Given the description of an element on the screen output the (x, y) to click on. 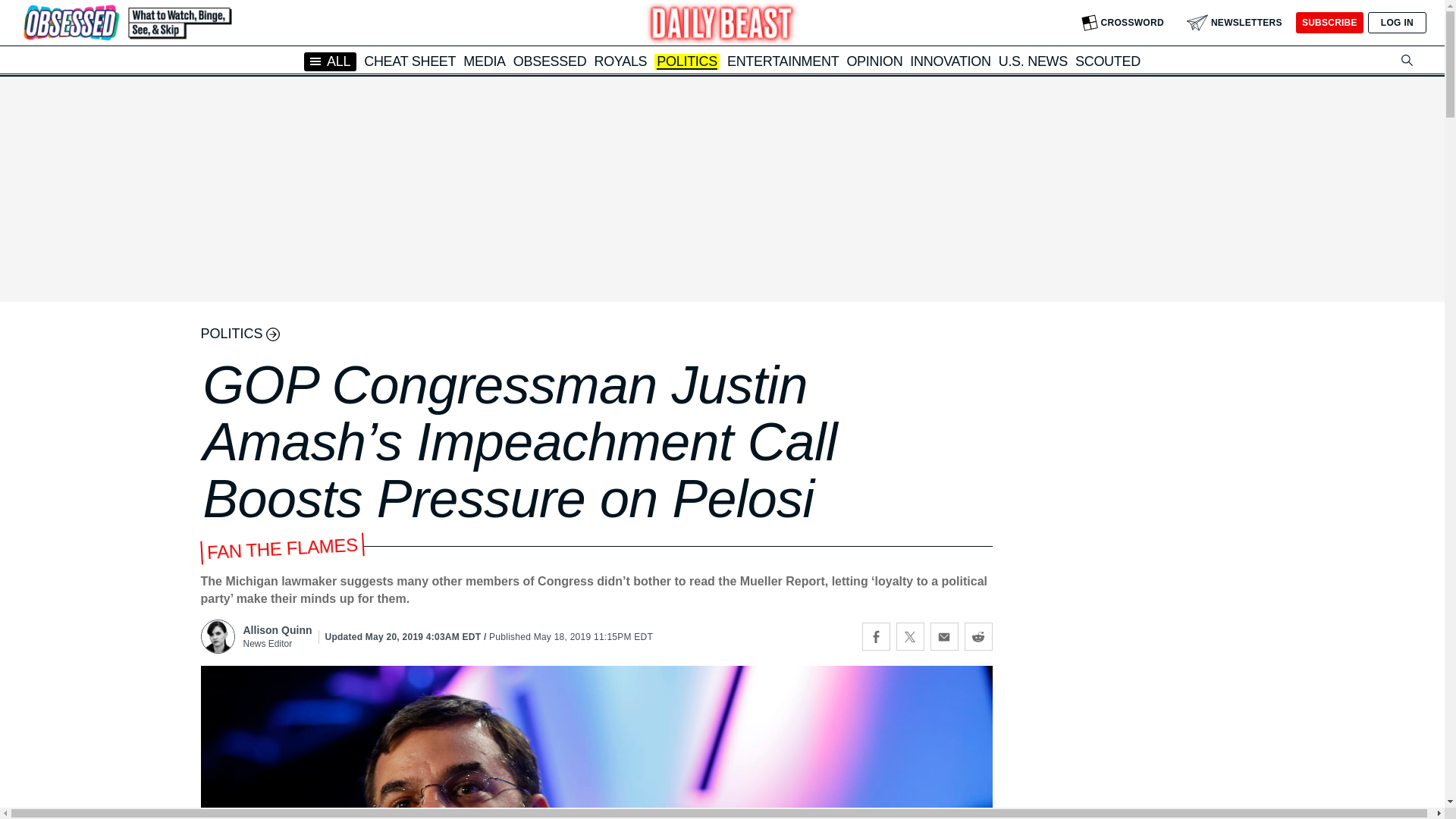
ALL (330, 60)
CHEAT SHEET (409, 60)
SUBSCRIBE (1328, 22)
POLITICS (686, 61)
NEWSLETTERS (1234, 22)
ROYALS (620, 60)
MEDIA (484, 60)
LOG IN (1397, 22)
OPINION (873, 60)
CROSSWORD (1122, 22)
INNOVATION (950, 60)
U.S. NEWS (1032, 60)
ENTERTAINMENT (782, 60)
SCOUTED (1107, 60)
OBSESSED (549, 60)
